Given the description of an element on the screen output the (x, y) to click on. 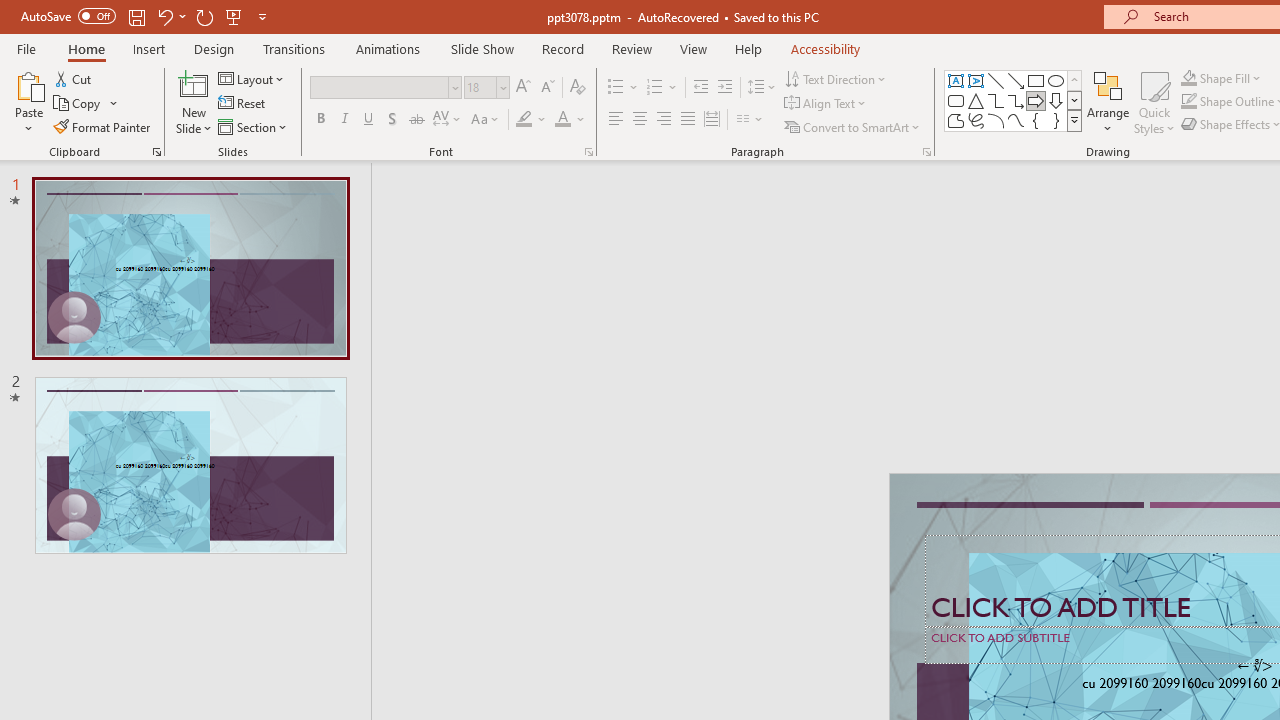
Explorer (Ctrl+Shift+E) (135, 388)
Application Menu (135, 322)
Class: menubar compact overflow-menu-only (135, 322)
Microsoft security help and learning (42, 613)
wangyian_webcrawler - DSW (42, 439)
Run and Debug (Ctrl+Shift+D) (135, 622)
